Given the description of an element on the screen output the (x, y) to click on. 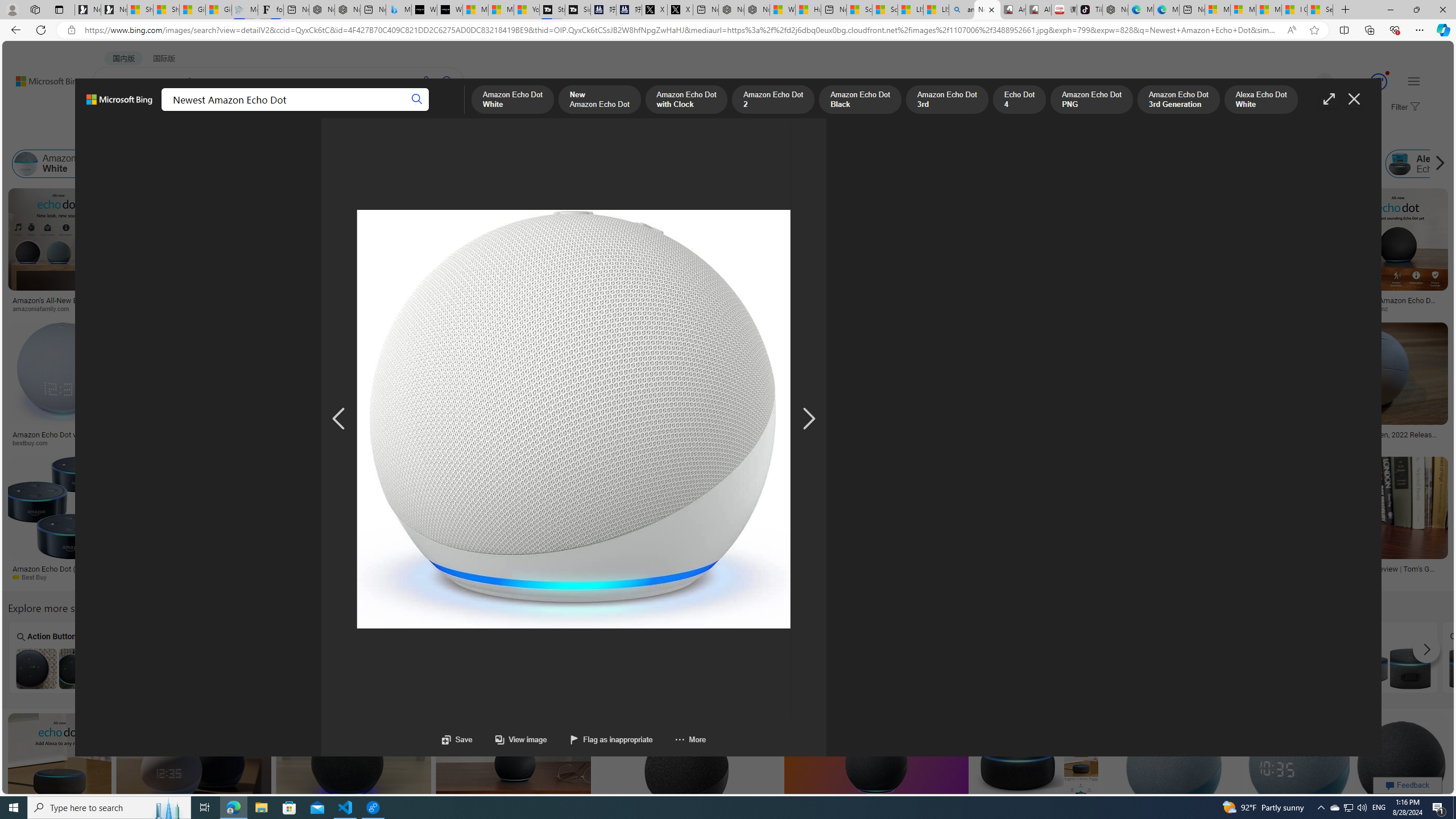
Amazon Echo Dot Owl and Nest (569, 668)
With Clock (689, 261)
exotique.com.mt (830, 442)
techradar.com (351, 576)
techradar.com (281, 576)
Amazon Echo Dot Carpher (978, 668)
